Given the description of an element on the screen output the (x, y) to click on. 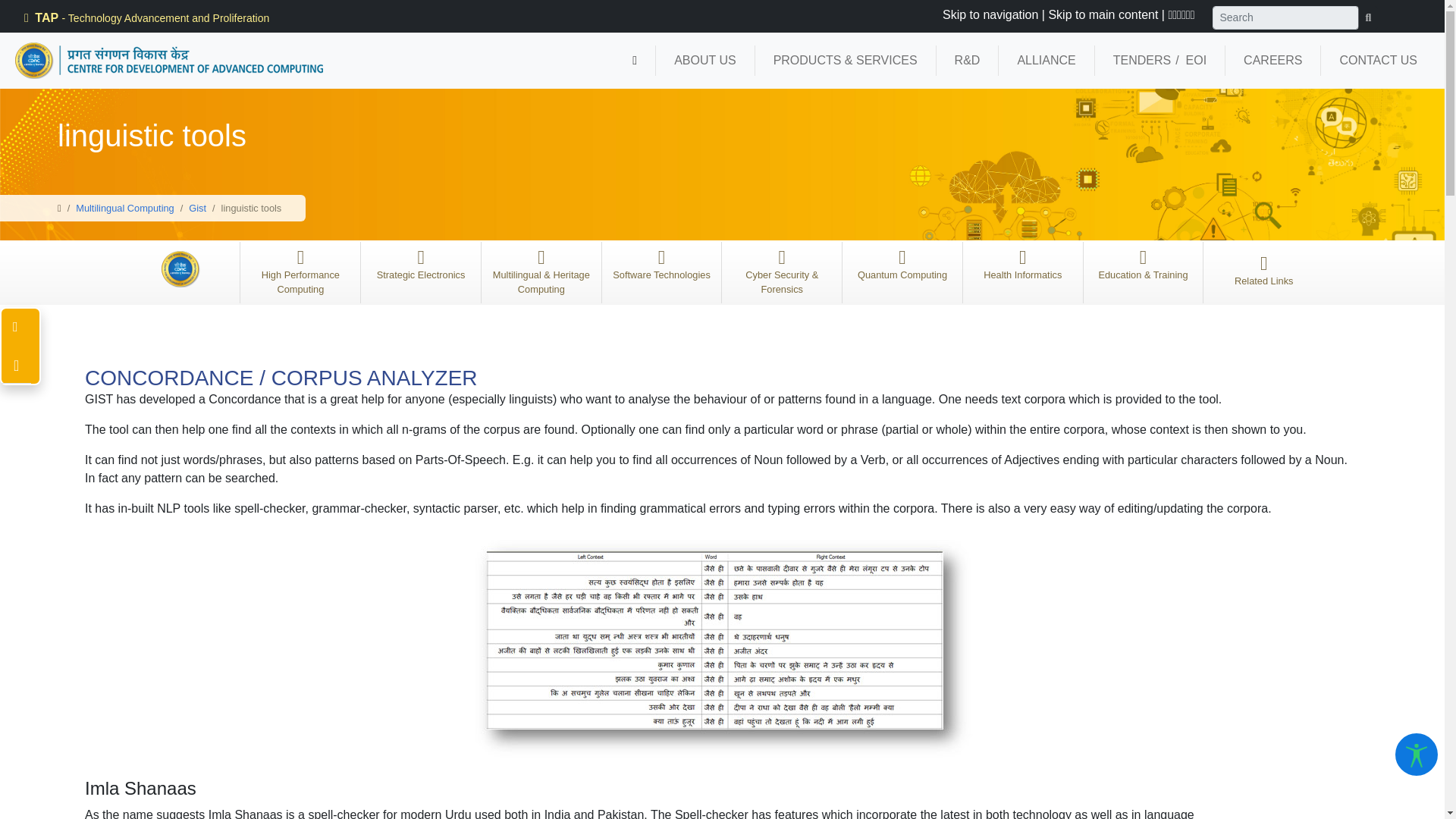
accessibility menu (1416, 754)
AIRAWAT-PSAI (69, 17)
CONTACT US (1377, 60)
Skip to main content (1102, 14)
CAREERS (1272, 60)
ALLIANCE (1045, 60)
ABOUT US (705, 60)
Skip to navigation (990, 14)
TENDERS (1141, 60)
TAP - Technology Advancement and Proliferation (144, 17)
